Given the description of an element on the screen output the (x, y) to click on. 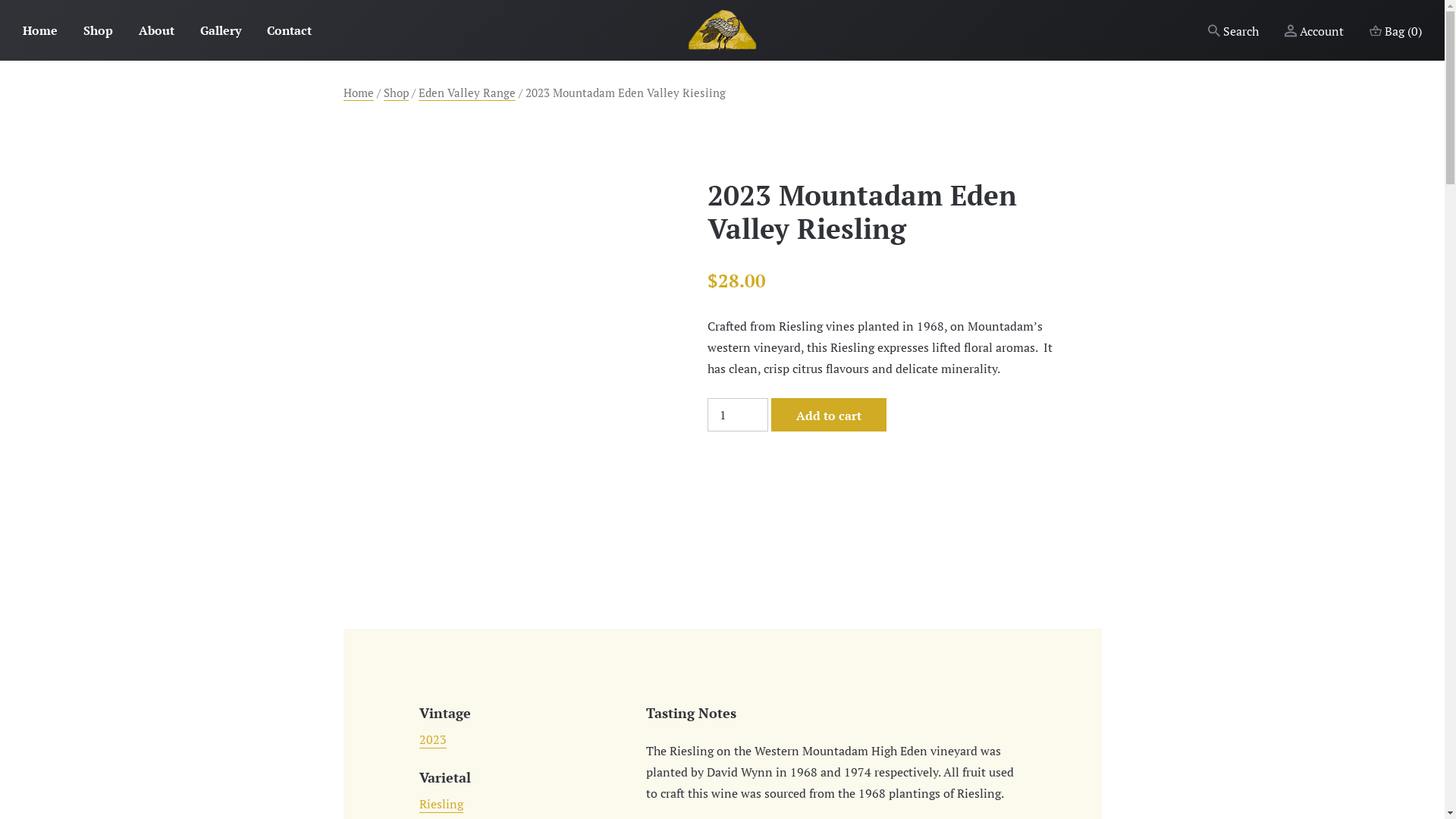
About Element type: text (156, 30)
Contact Element type: text (288, 30)
Account Element type: text (1313, 30)
Shop Element type: text (395, 92)
Shop Element type: text (97, 30)
Home Element type: text (39, 30)
Gallery Element type: text (220, 30)
Bag (0) Element type: text (1395, 30)
Eden Valley Range Element type: text (466, 92)
Riesling Element type: text (440, 803)
Home Element type: text (357, 92)
Add to cart Element type: text (827, 414)
2023 Element type: text (431, 739)
